Given the description of an element on the screen output the (x, y) to click on. 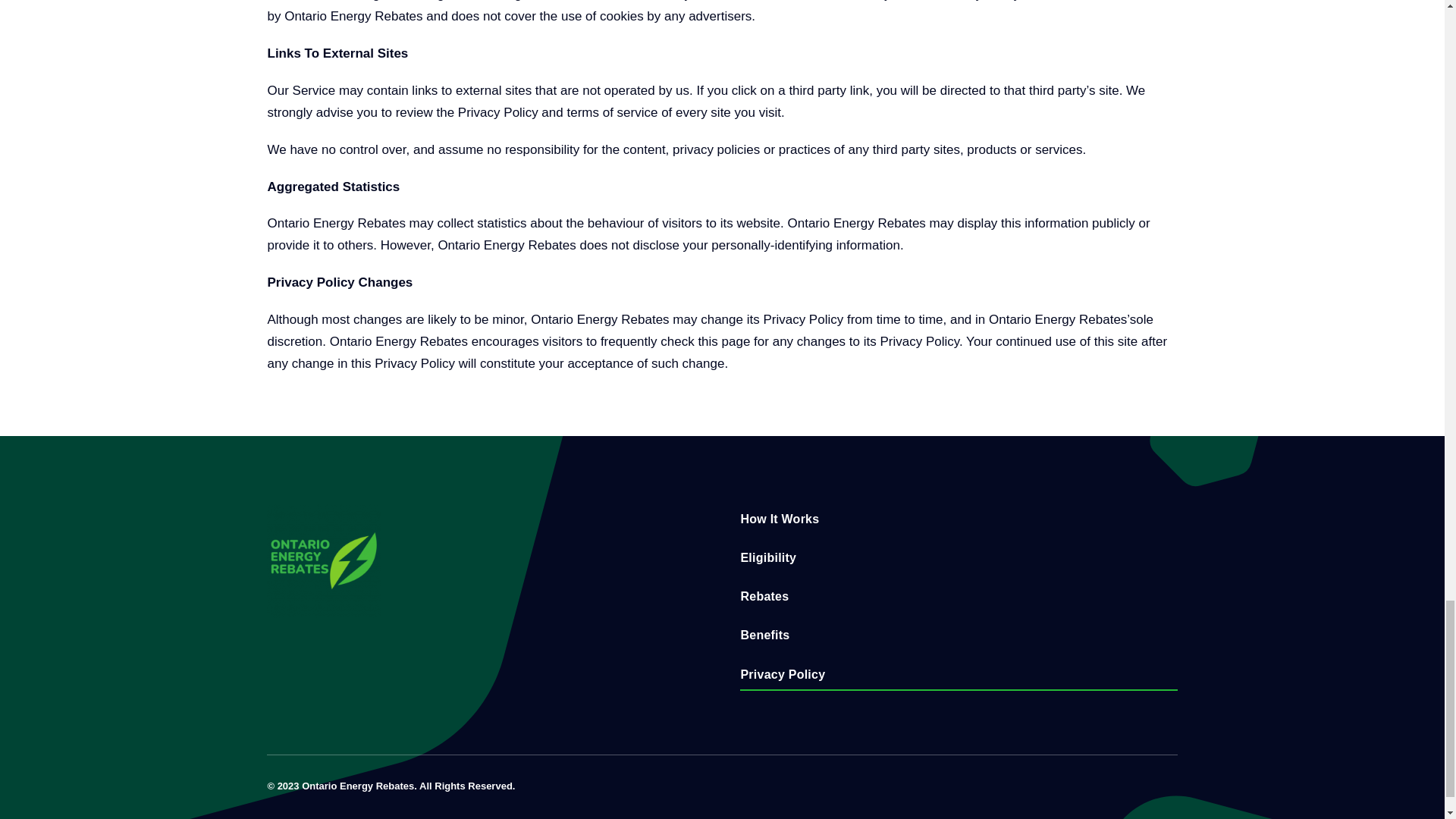
Benefits (957, 635)
Ontario-Energy-Rebates-Logo-sq (323, 561)
Privacy Policy (957, 675)
Eligibility (957, 558)
Rebates (957, 596)
How It Works (957, 519)
